Given the description of an element on the screen output the (x, y) to click on. 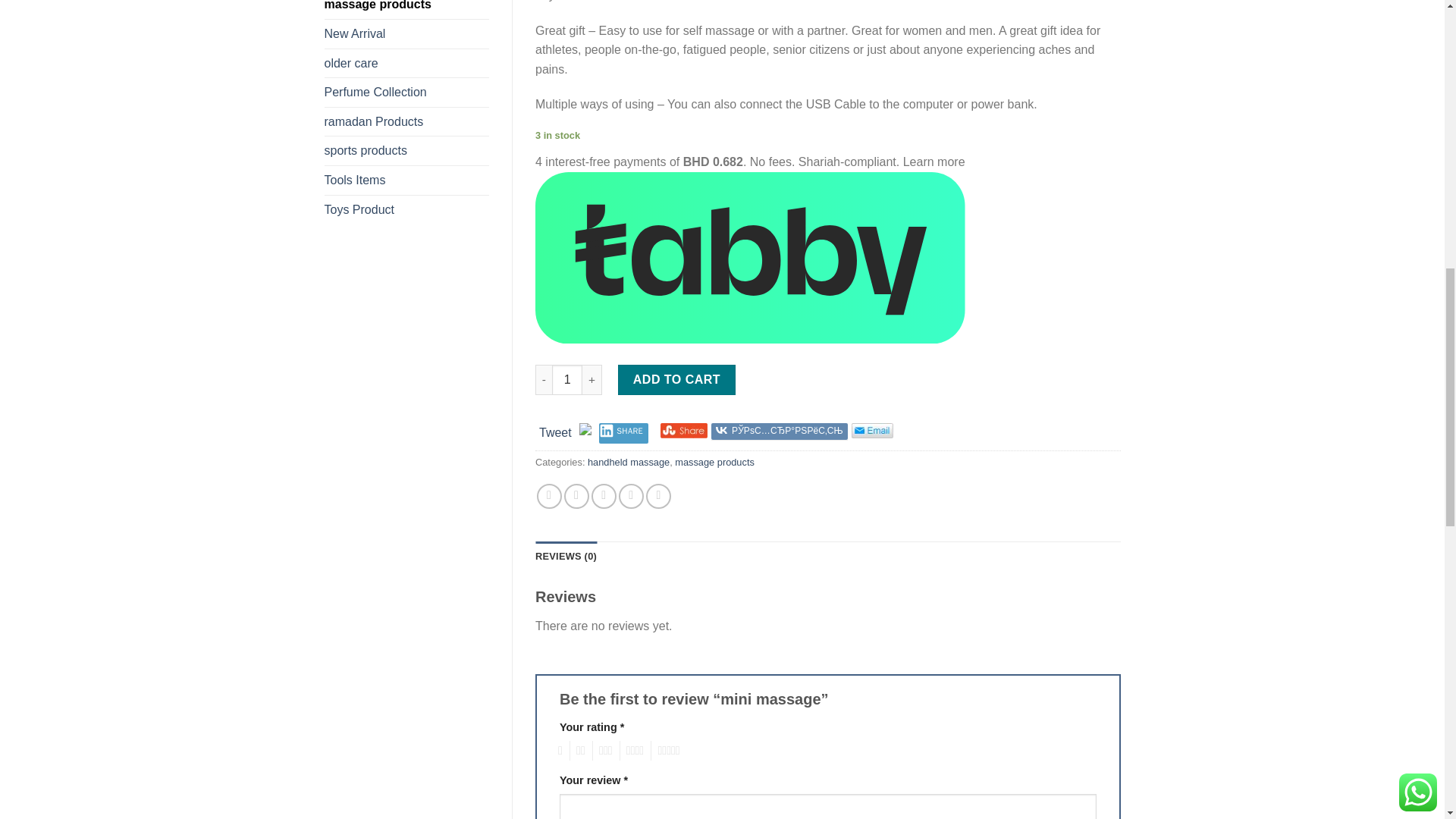
1 (566, 379)
Qty (566, 379)
